Given the description of an element on the screen output the (x, y) to click on. 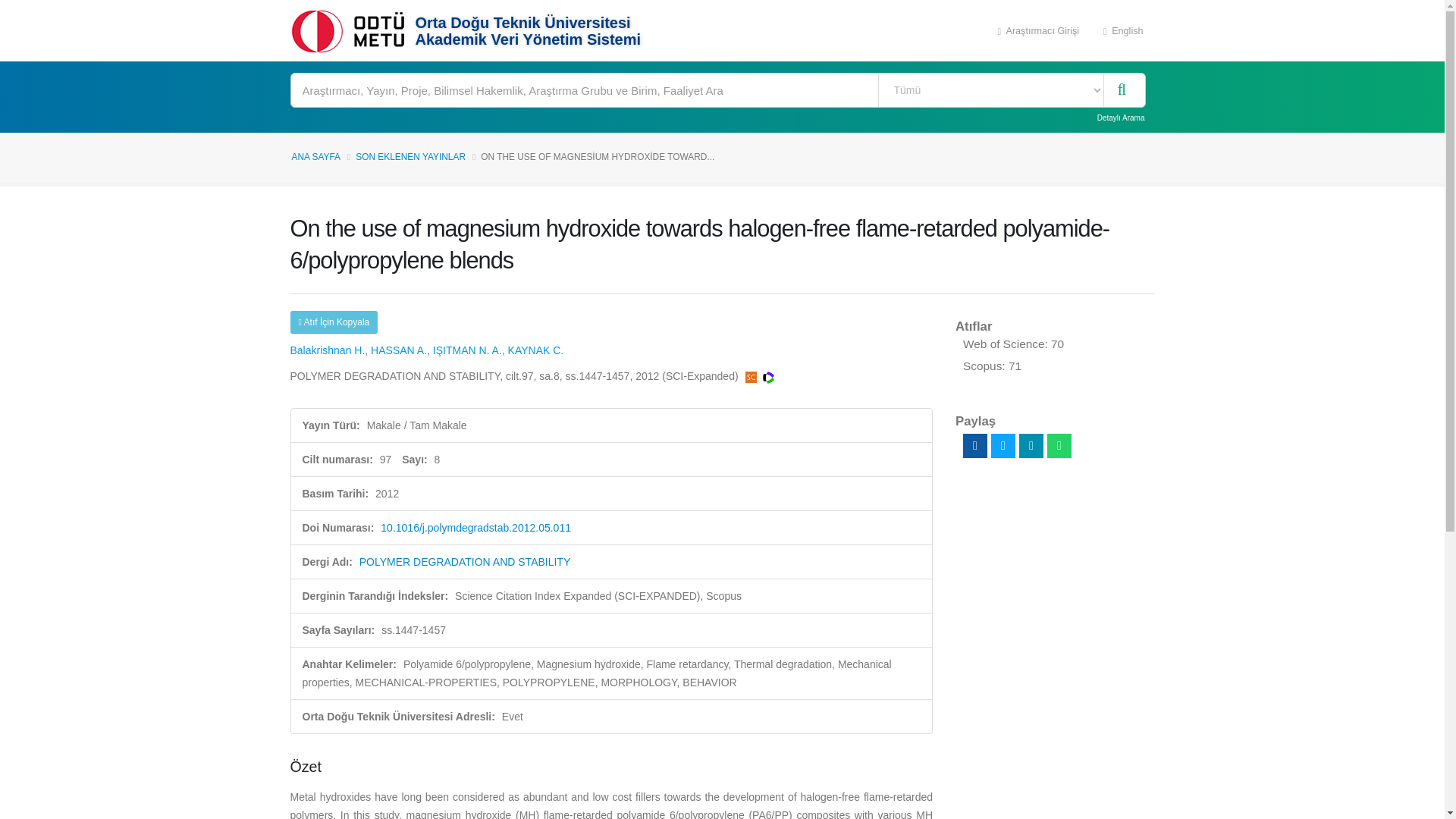
Balakrishnan H. (327, 349)
Azman HASSAN (398, 349)
HASSAN A. (398, 349)
Harintharavimal Balakrishnan (327, 349)
POLYMER DEGRADATION AND STABILITY (464, 562)
English (1123, 31)
ANA SAYFA (315, 156)
KAYNAK C. (536, 349)
SON EKLENEN YAYINLAR (410, 156)
